Given the description of an element on the screen output the (x, y) to click on. 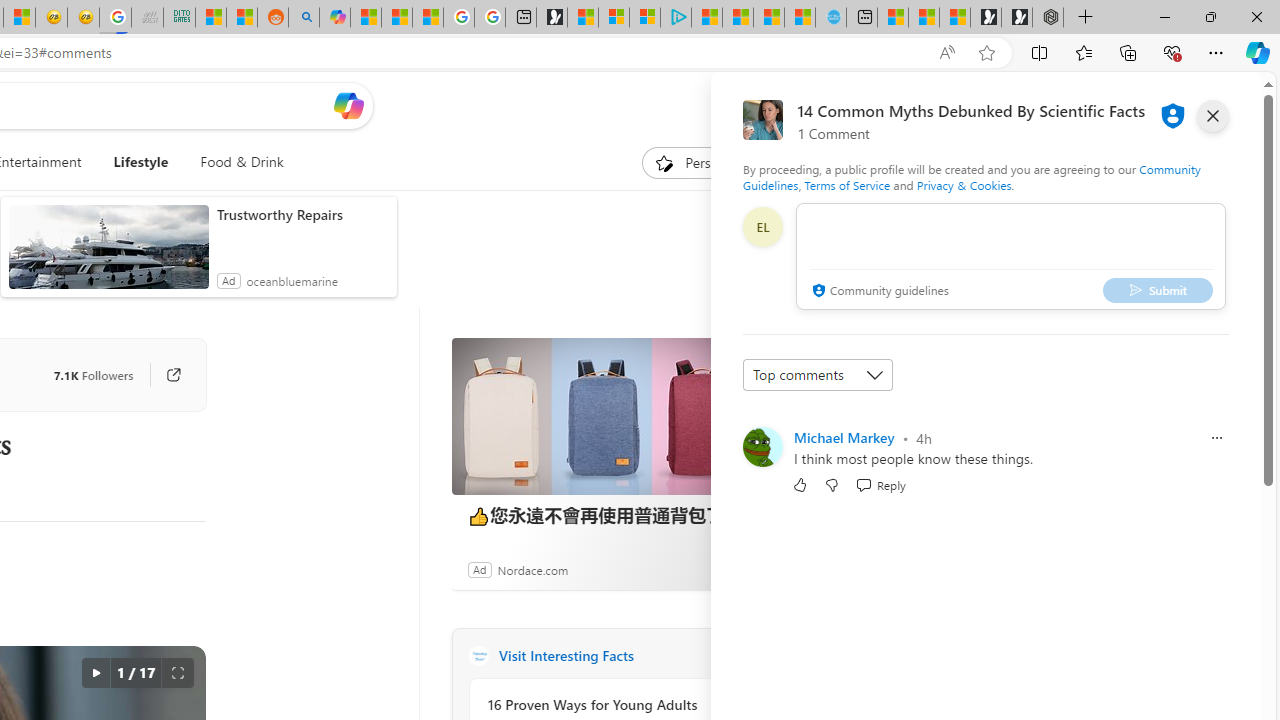
Community Guidelines (971, 176)
Visit Interesting Facts website (726, 655)
Terms of Service (846, 184)
Food & Drink (241, 162)
Sort comments by (817, 374)
Submit (1158, 290)
Microsoft rewards (1137, 105)
Utah sues federal government - Search (303, 17)
